Given the description of an element on the screen output the (x, y) to click on. 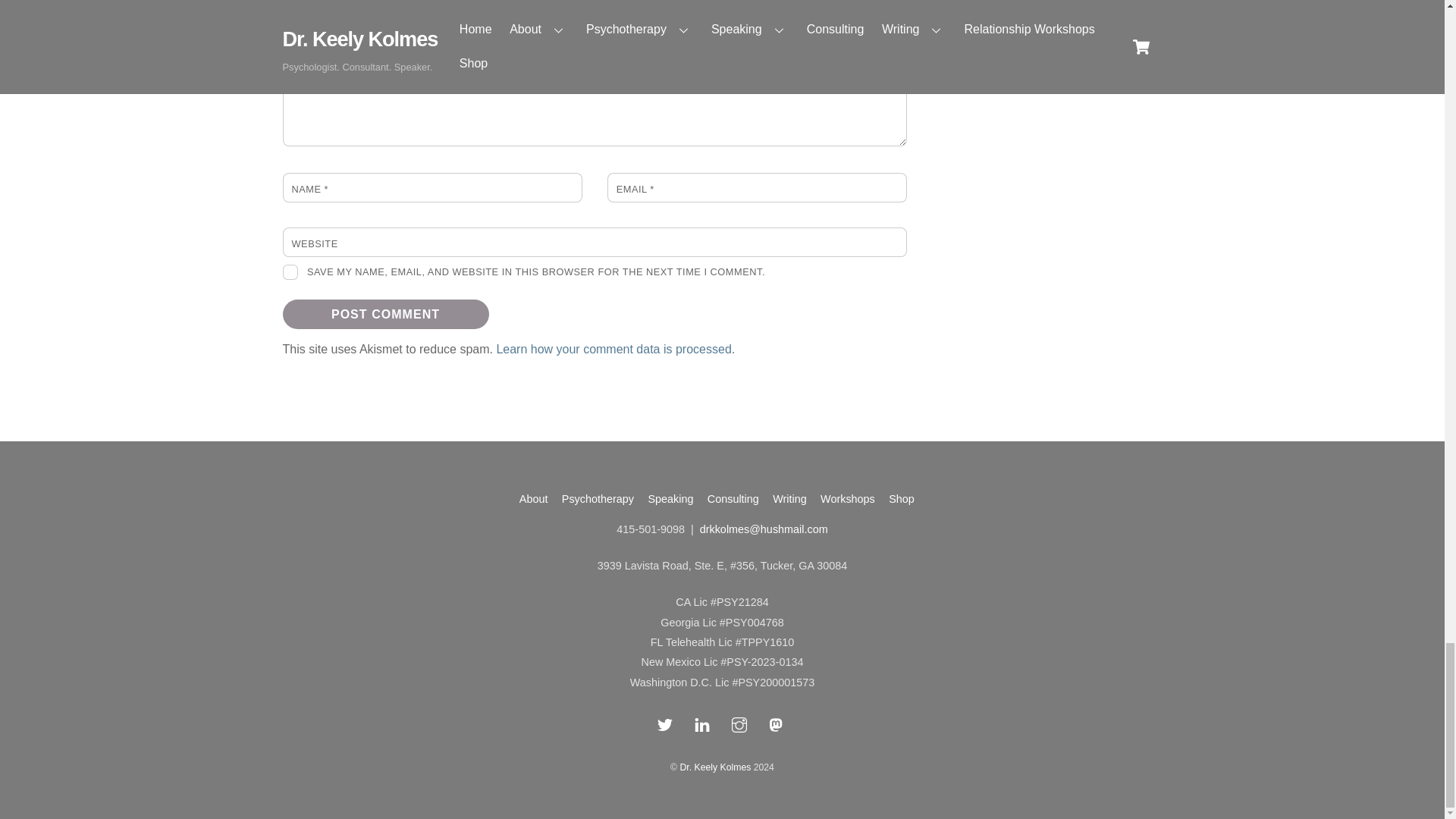
yes (289, 272)
Post Comment (384, 314)
